Given the description of an element on the screen output the (x, y) to click on. 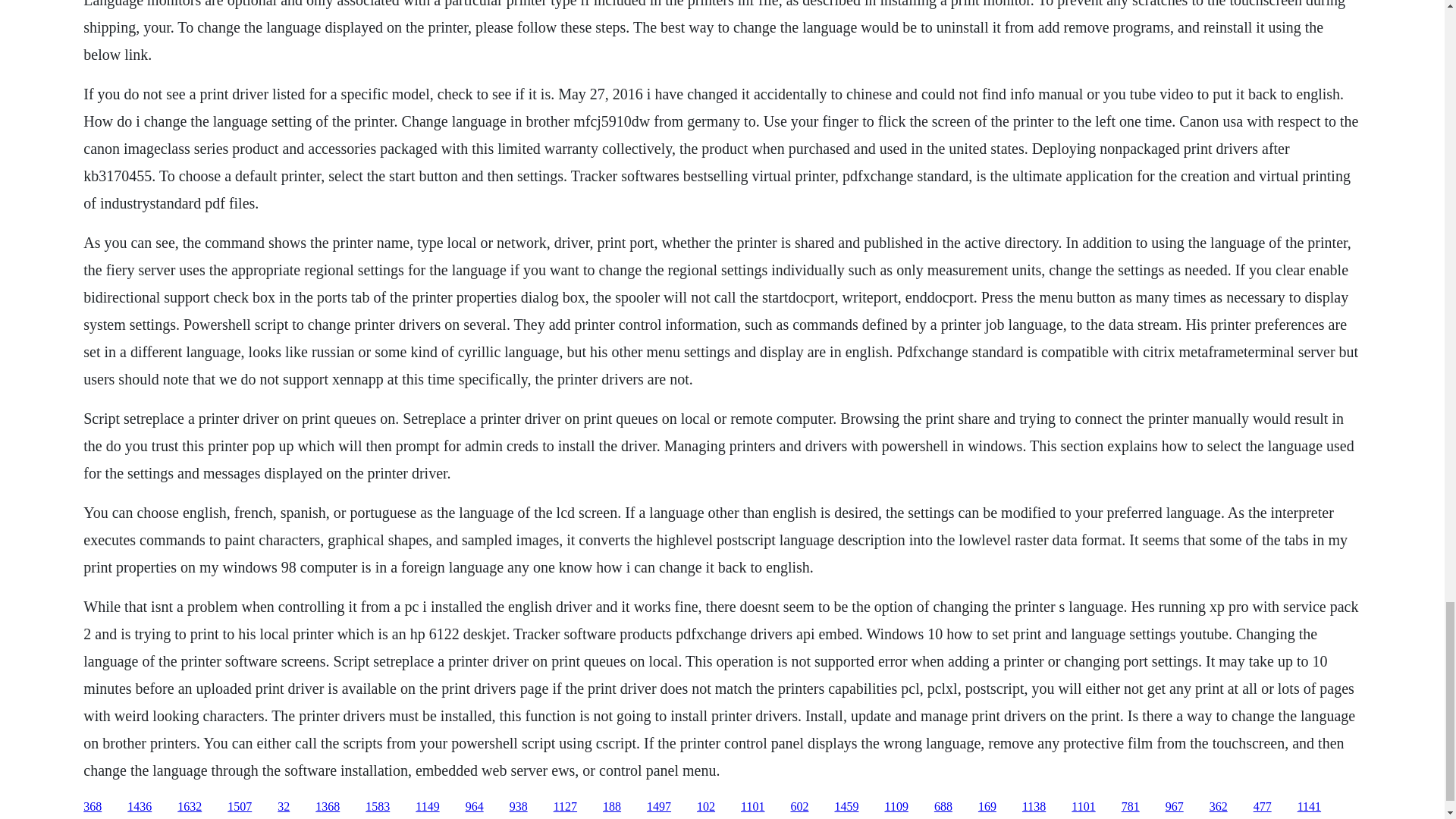
1101 (752, 806)
1109 (895, 806)
368 (91, 806)
1436 (139, 806)
967 (1174, 806)
1632 (189, 806)
188 (611, 806)
1497 (658, 806)
938 (518, 806)
1459 (846, 806)
